Given the description of an element on the screen output the (x, y) to click on. 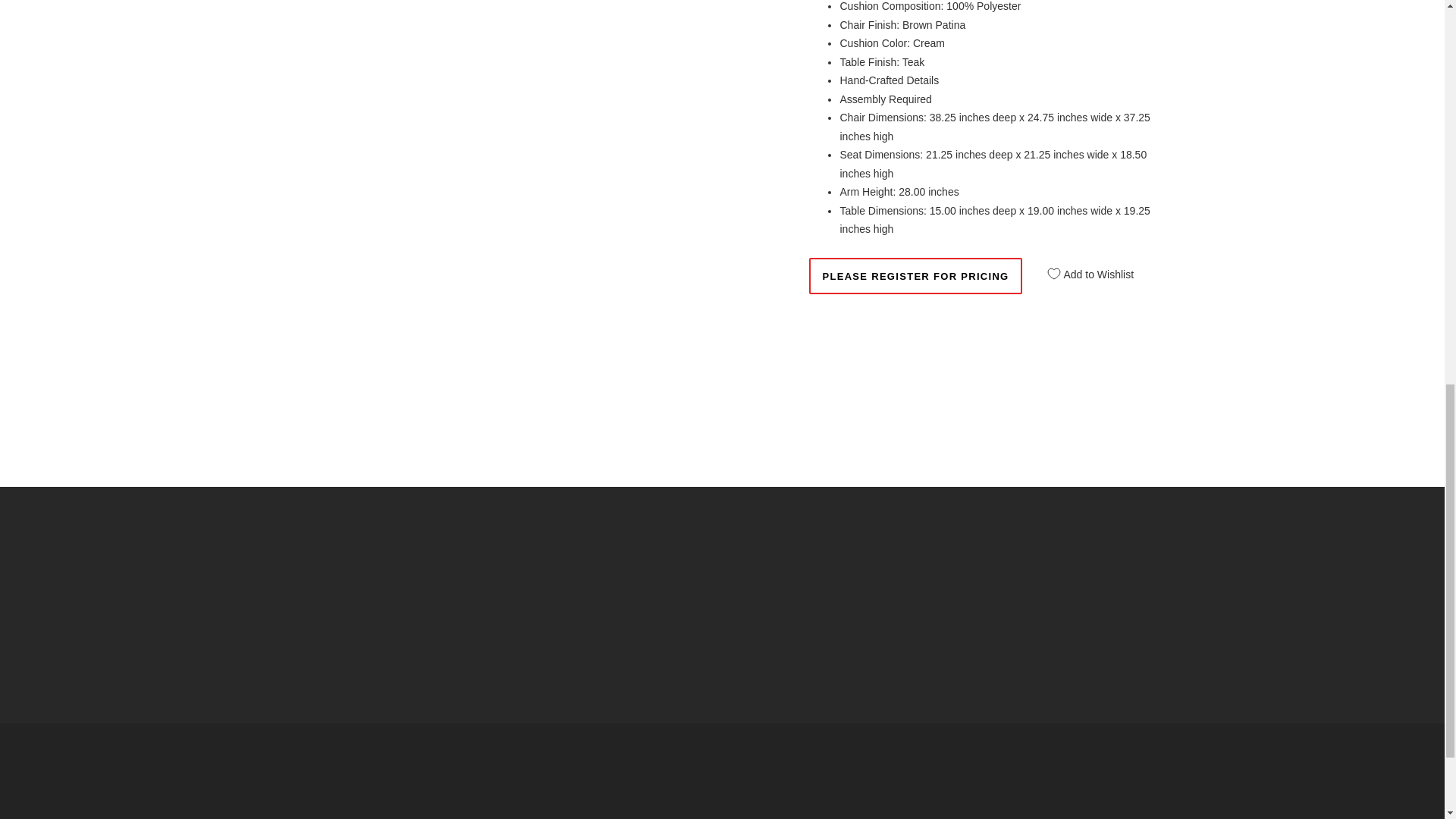
Add to Wishlist (1085, 268)
